Given the description of an element on the screen output the (x, y) to click on. 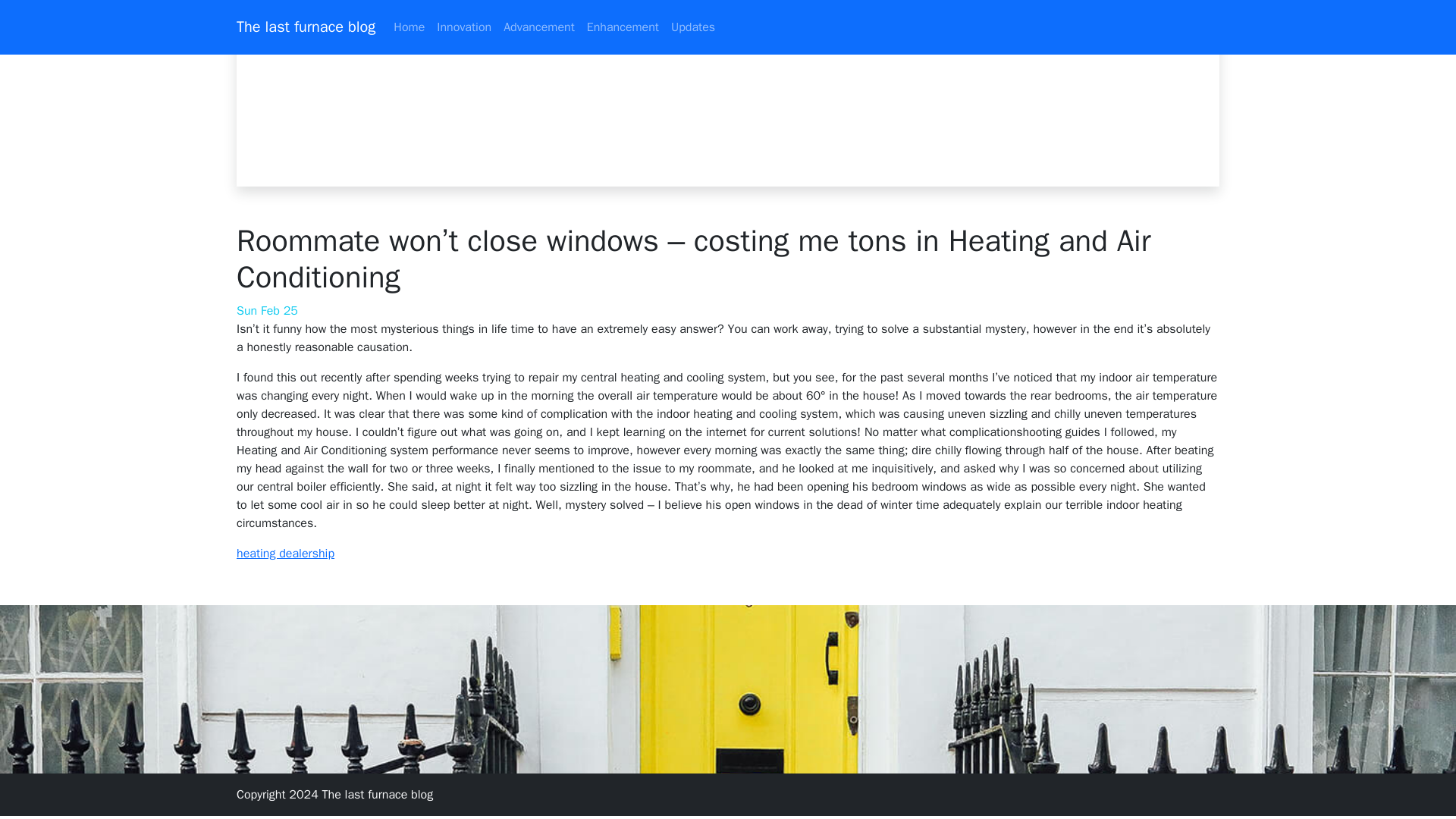
heating dealership (284, 553)
The last furnace blog (305, 27)
Updates (692, 27)
Home (408, 27)
Enhancement (622, 27)
Advancement (538, 27)
Innovation (463, 27)
